Given the description of an element on the screen output the (x, y) to click on. 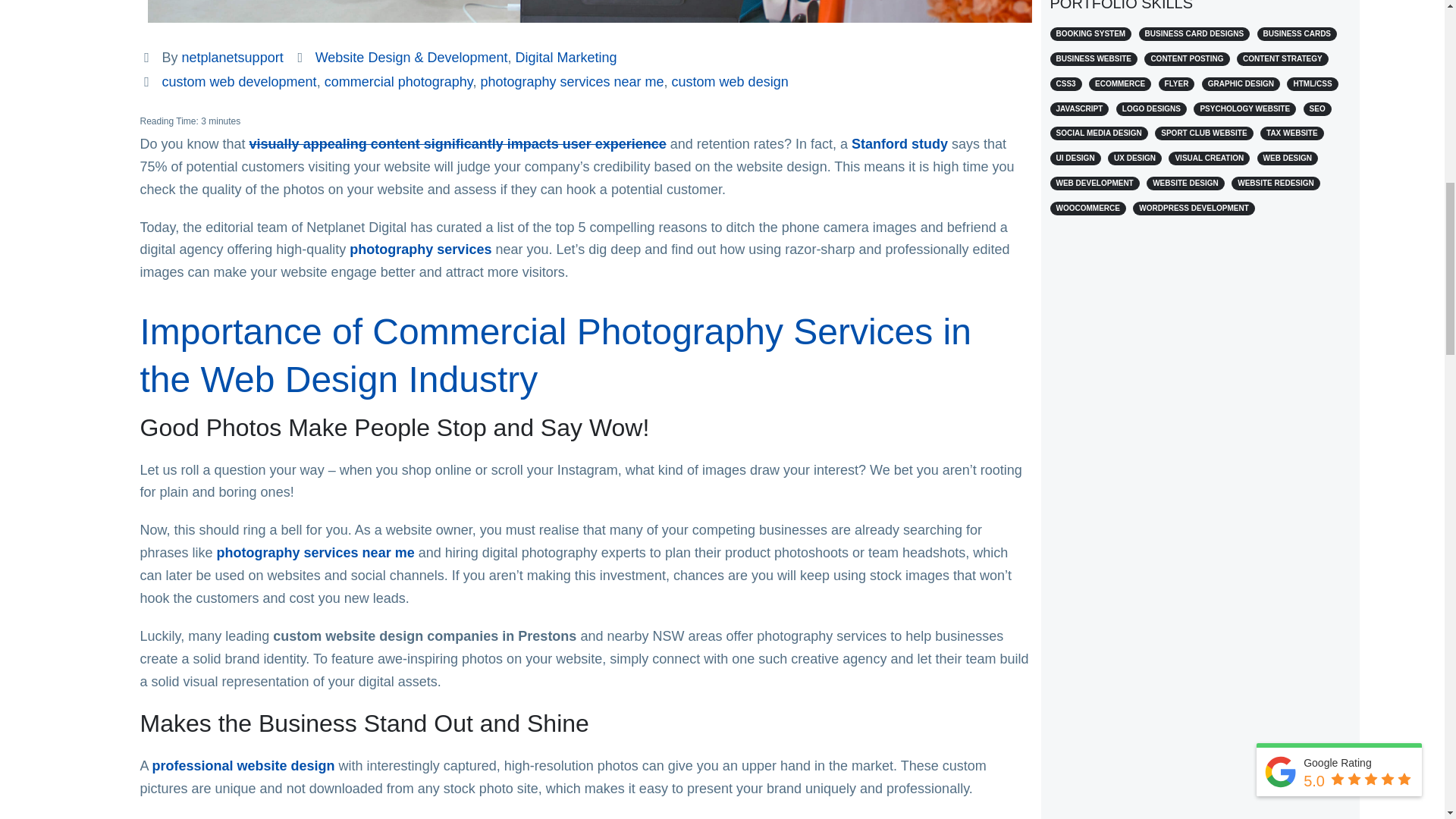
photography services near me (571, 81)
netplanetsupport (232, 57)
custom web development (239, 81)
Digital Marketing (566, 57)
custom web design (730, 81)
commercial photography (398, 81)
